Given the description of an element on the screen output the (x, y) to click on. 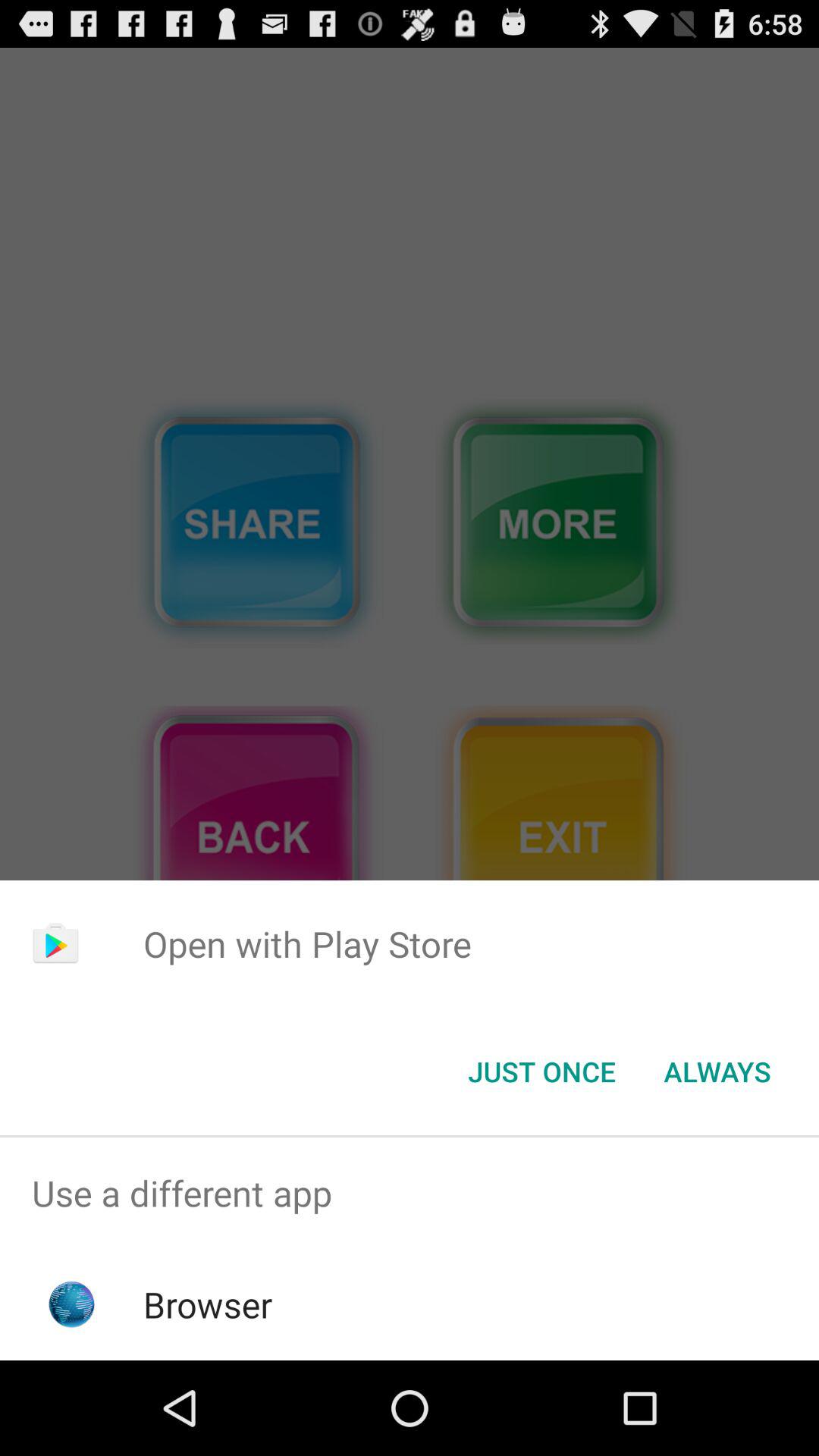
click the icon next to the just once icon (717, 1071)
